Given the description of an element on the screen output the (x, y) to click on. 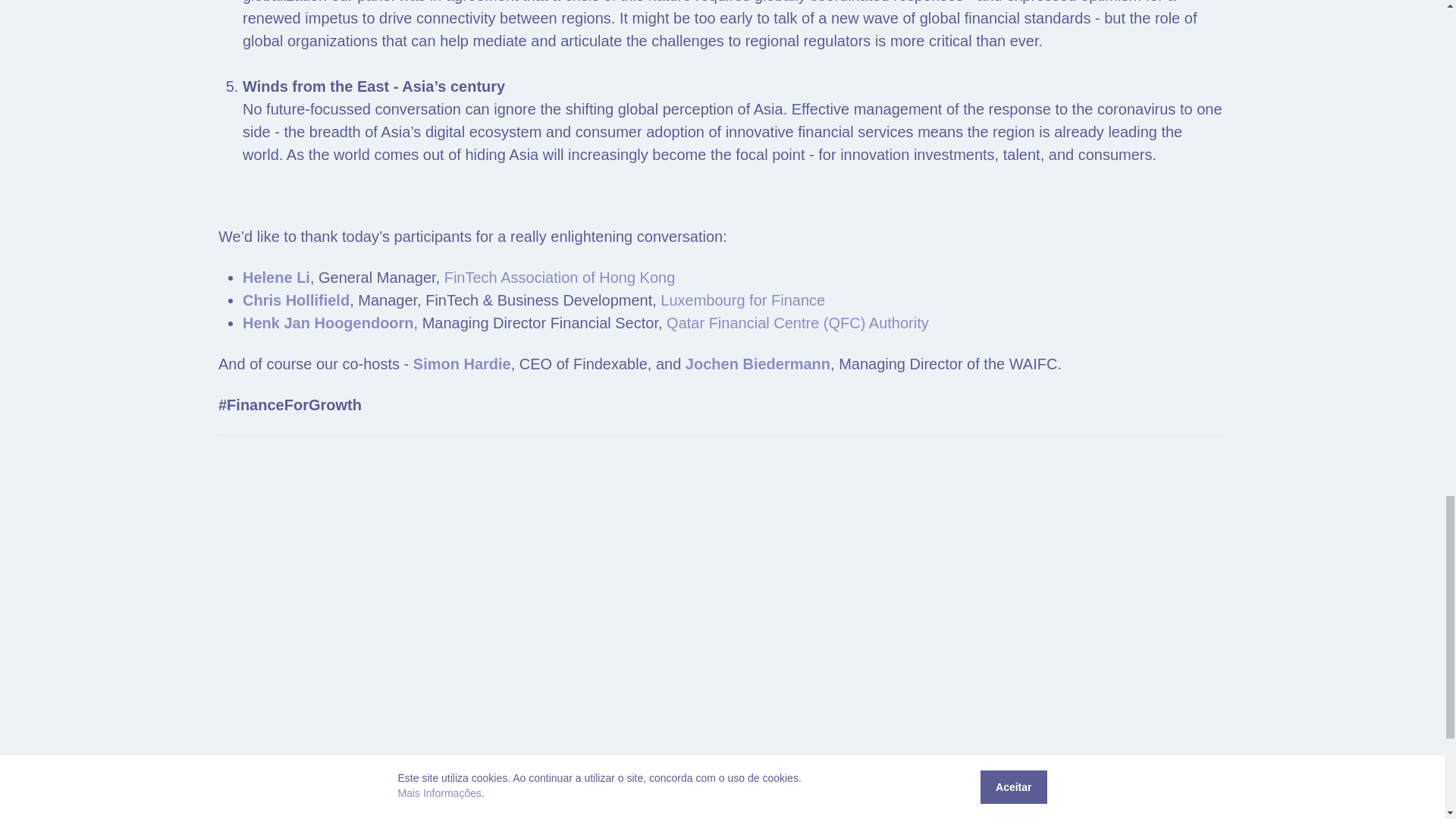
Helene Li (276, 277)
FinTech Association of Hong Kong (559, 277)
Simon Hardie (462, 363)
Luxembourg for Finance (743, 299)
Jochen Biedermann (757, 363)
Henk Jan Hoogendoorn (328, 322)
Chris Hollifield (296, 299)
